Given the description of an element on the screen output the (x, y) to click on. 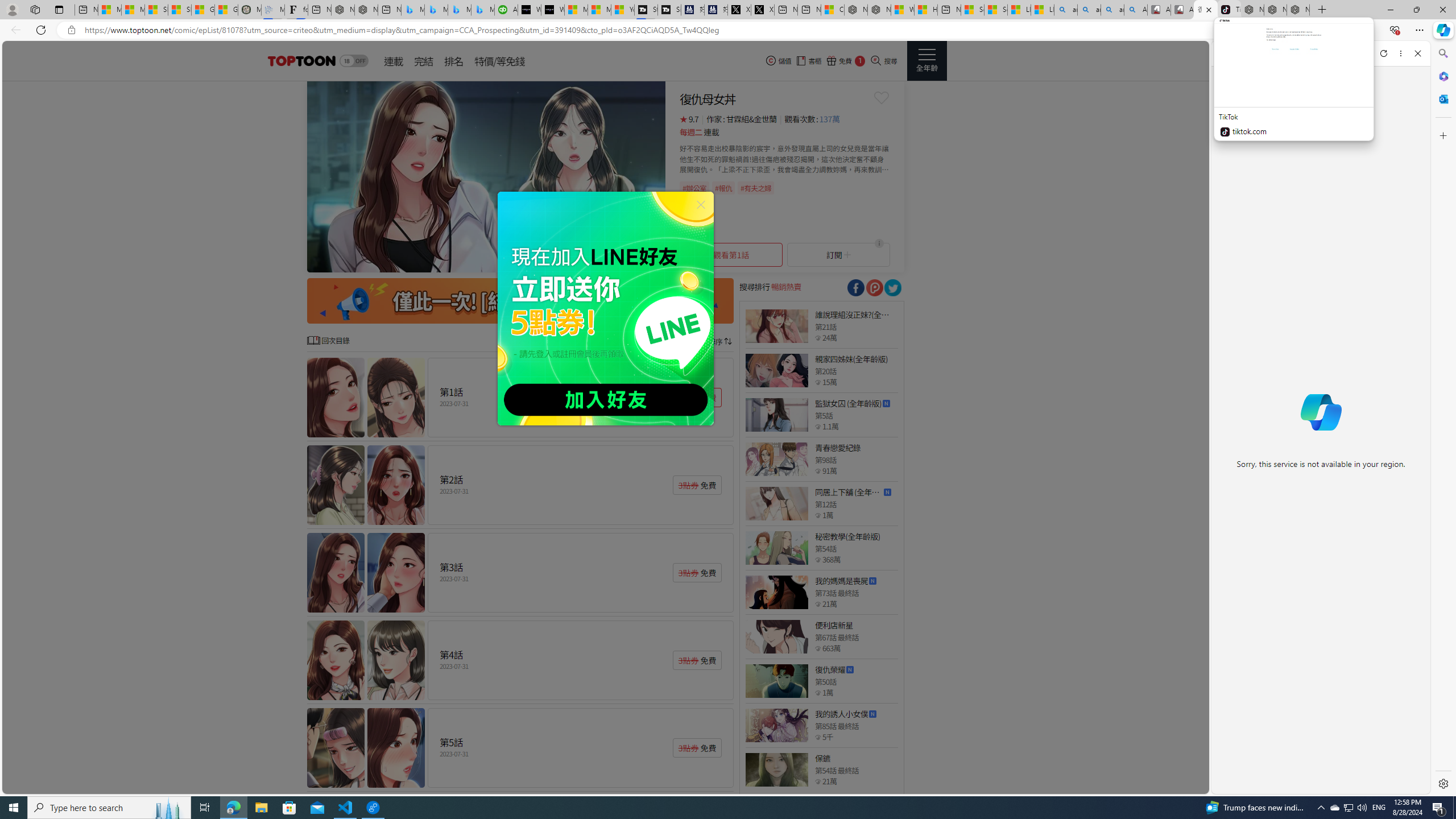
Class: side_menu_btn actionRightMenuBtn (926, 60)
Customize (1442, 135)
Compose (1280, 52)
